Given the description of an element on the screen output the (x, y) to click on. 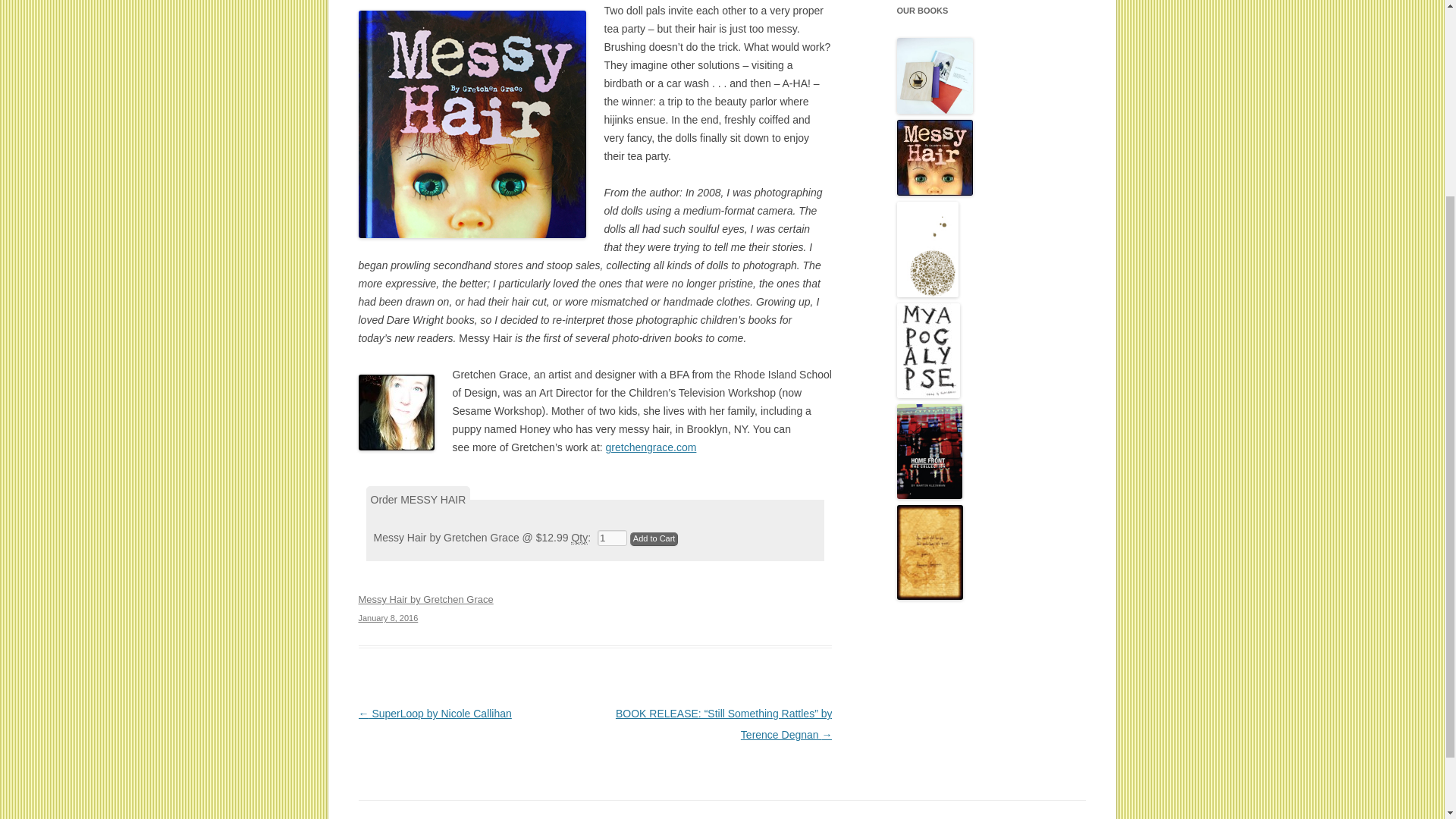
Add selected item to your shopping basket (654, 539)
Add to Cart (654, 539)
gretchengrace.com (594, 608)
Add to Cart (651, 447)
Quantity (654, 539)
1 (579, 537)
